Given the description of an element on the screen output the (x, y) to click on. 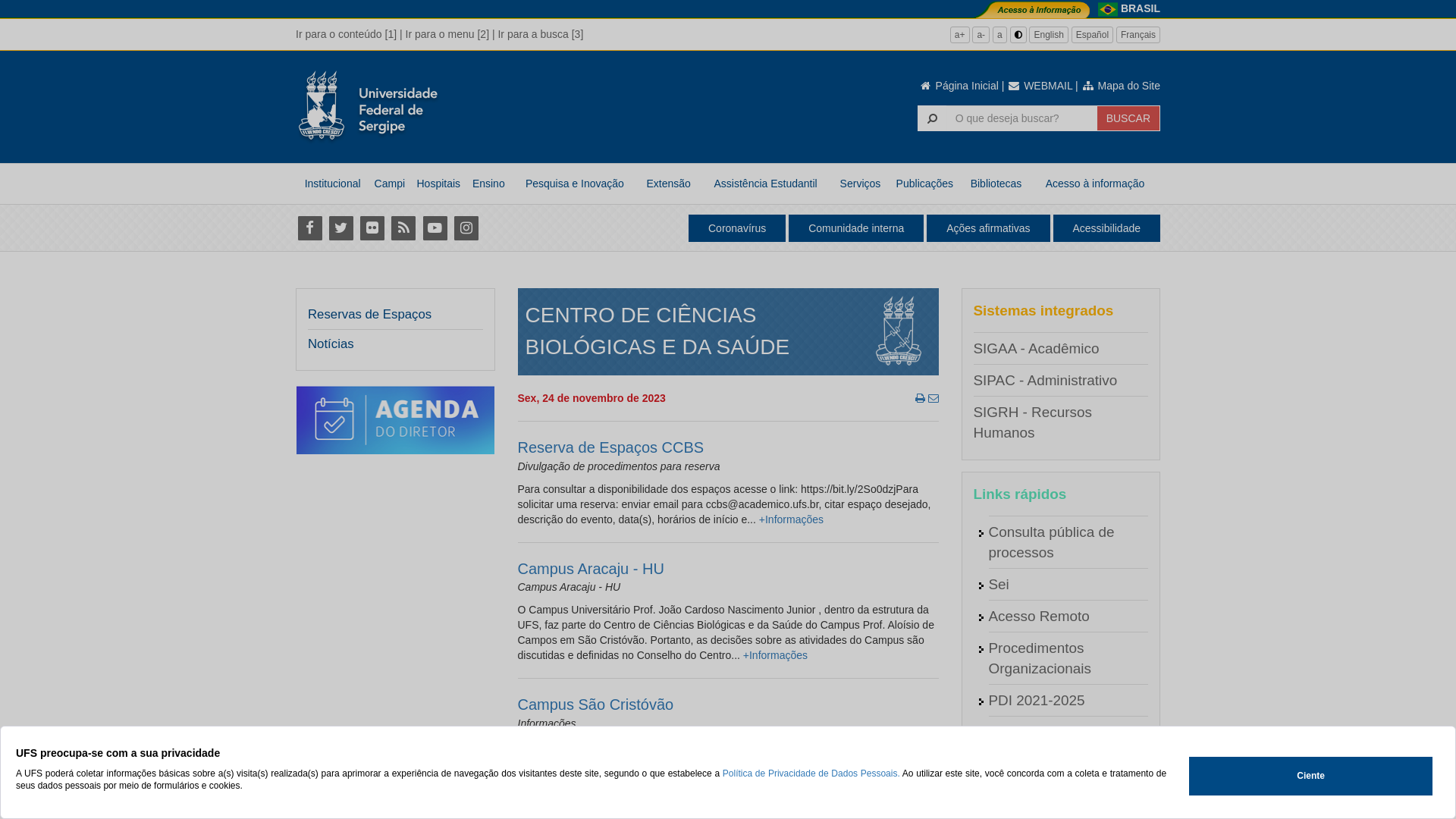
English Element type: text (1048, 34)
Ir para a busca [3] Element type: text (540, 34)
RSS Element type: text (403, 227)
Instagram Element type: text (465, 227)
Hospitais Element type: text (438, 183)
BUSCAR Element type: text (1128, 118)
Comunidade interna Element type: text (855, 227)
SIGRH - Recursos Humanos Element type: text (1032, 422)
Campi Element type: text (389, 183)
Institucional Element type: text (332, 183)
Bibliotecas Element type: text (995, 183)
a+ Element type: text (959, 34)
Agenda do Reitor Element type: text (1044, 732)
Flickr Element type: text (371, 227)
WEBMAIL Element type: text (1039, 85)
a Element type: text (999, 34)
Agenda do Vice-Reitor Element type: text (1060, 763)
SIPAC - Administrativo Element type: text (1045, 380)
Telefones Element type: text (1019, 795)
Ensino Element type: text (488, 183)
Twitter Element type: text (340, 227)
Acesso Remoto Element type: text (1038, 616)
a- Element type: text (980, 34)
Ir para o menu [2] Element type: text (447, 34)
Sei Element type: text (998, 584)
Campus Aracaju - HU Element type: text (590, 568)
Mapa do Site Element type: text (1120, 85)
BRASIL Element type: text (1140, 8)
Procedimentos Organizacionais Element type: text (1039, 658)
PDI 2021-2025 Element type: text (1036, 700)
Facebook Element type: text (309, 227)
Youtube Element type: text (434, 227)
Acessibilidade Element type: text (1106, 227)
